Given the description of an element on the screen output the (x, y) to click on. 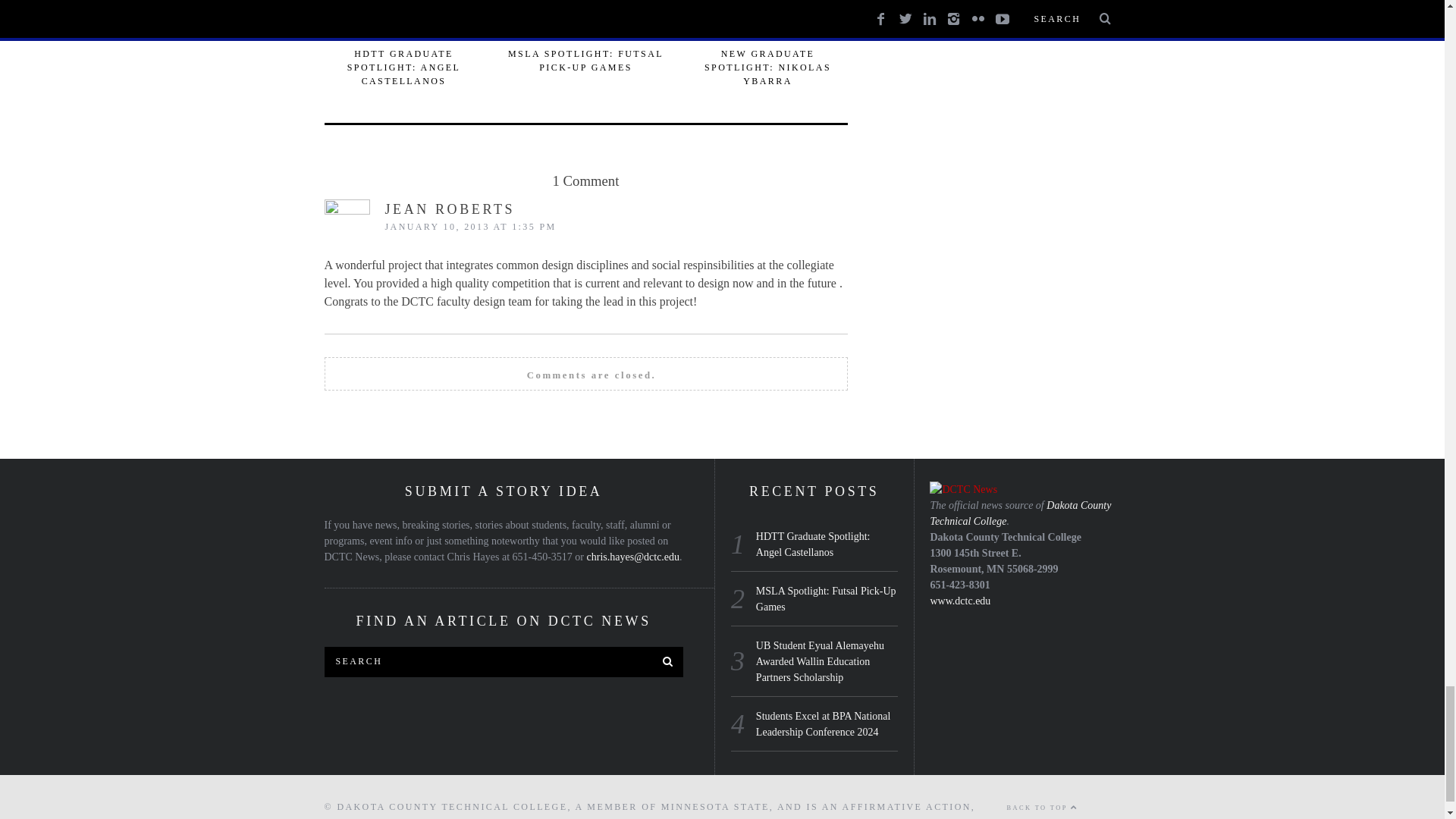
Search (503, 662)
